Given the description of an element on the screen output the (x, y) to click on. 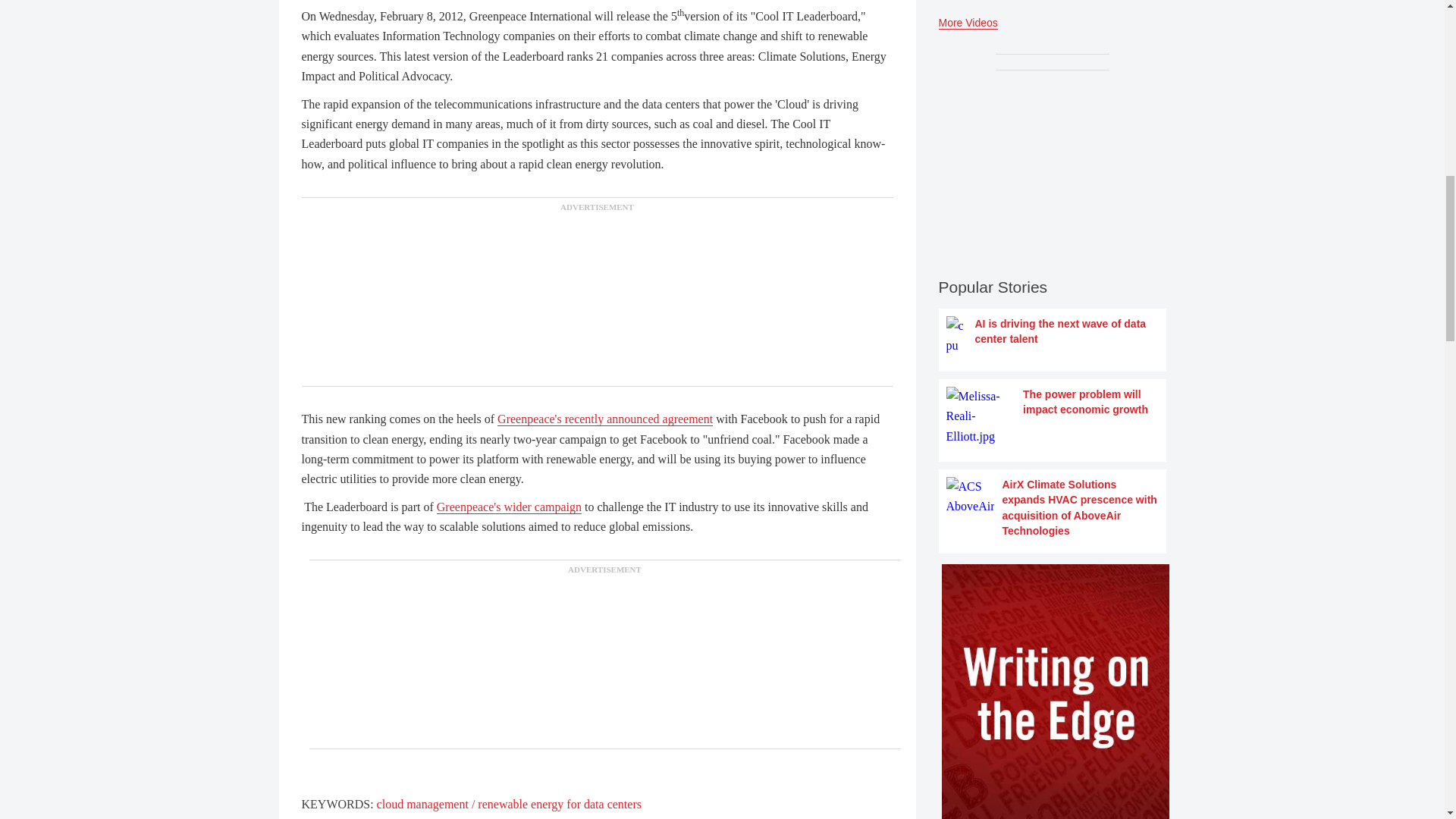
The power problem will impact economic growth (1052, 416)
AI is driving the next wave of data center talent (1052, 336)
